Given the description of an element on the screen output the (x, y) to click on. 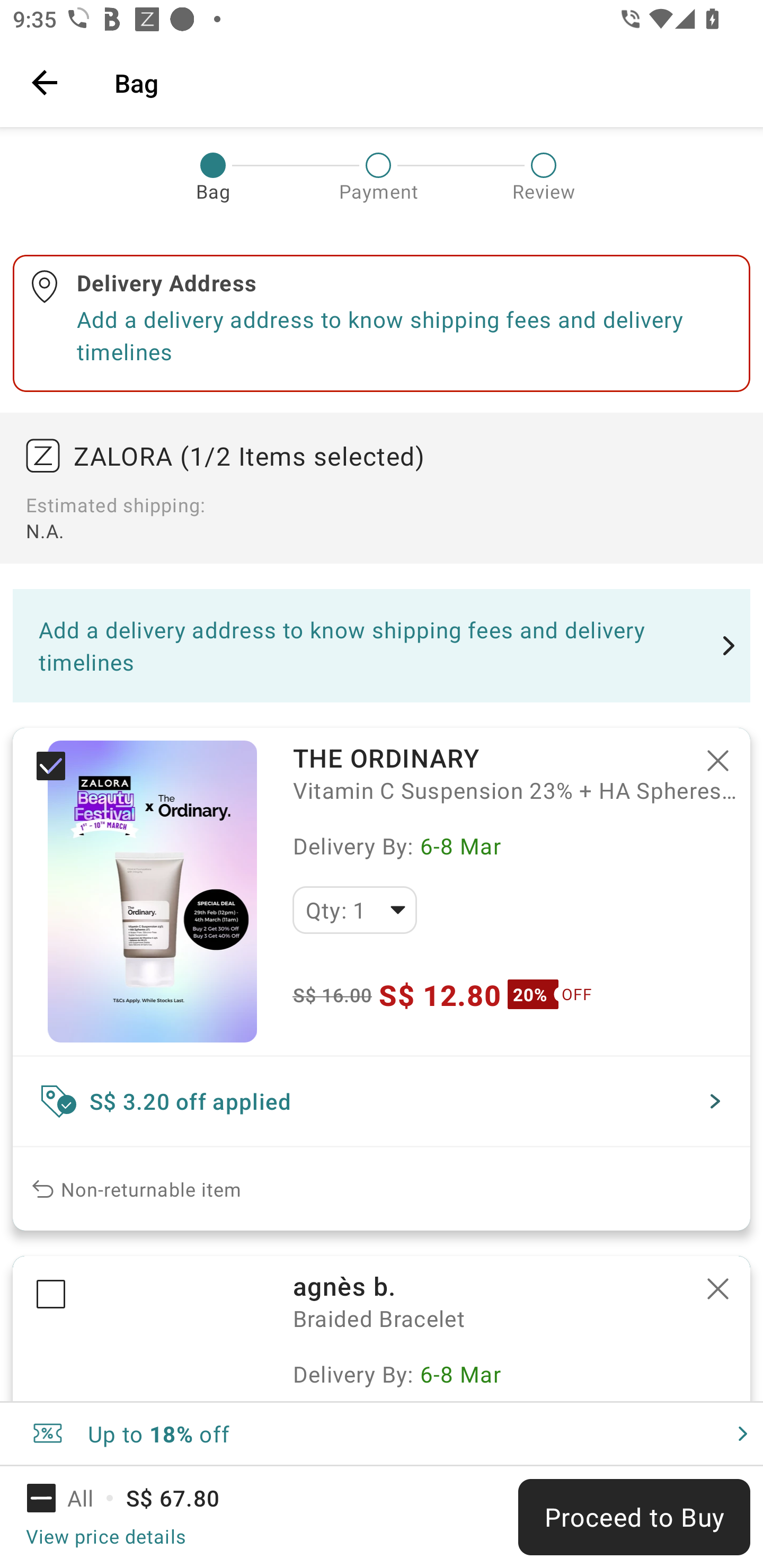
Navigate up (44, 82)
Bag (426, 82)
Qty: 1 (354, 909)
S$ 3.20 off applied (381, 1101)
Up to 18% off (381, 1433)
All (72, 1497)
Proceed to Buy (634, 1516)
View price details (105, 1535)
